Given the description of an element on the screen output the (x, y) to click on. 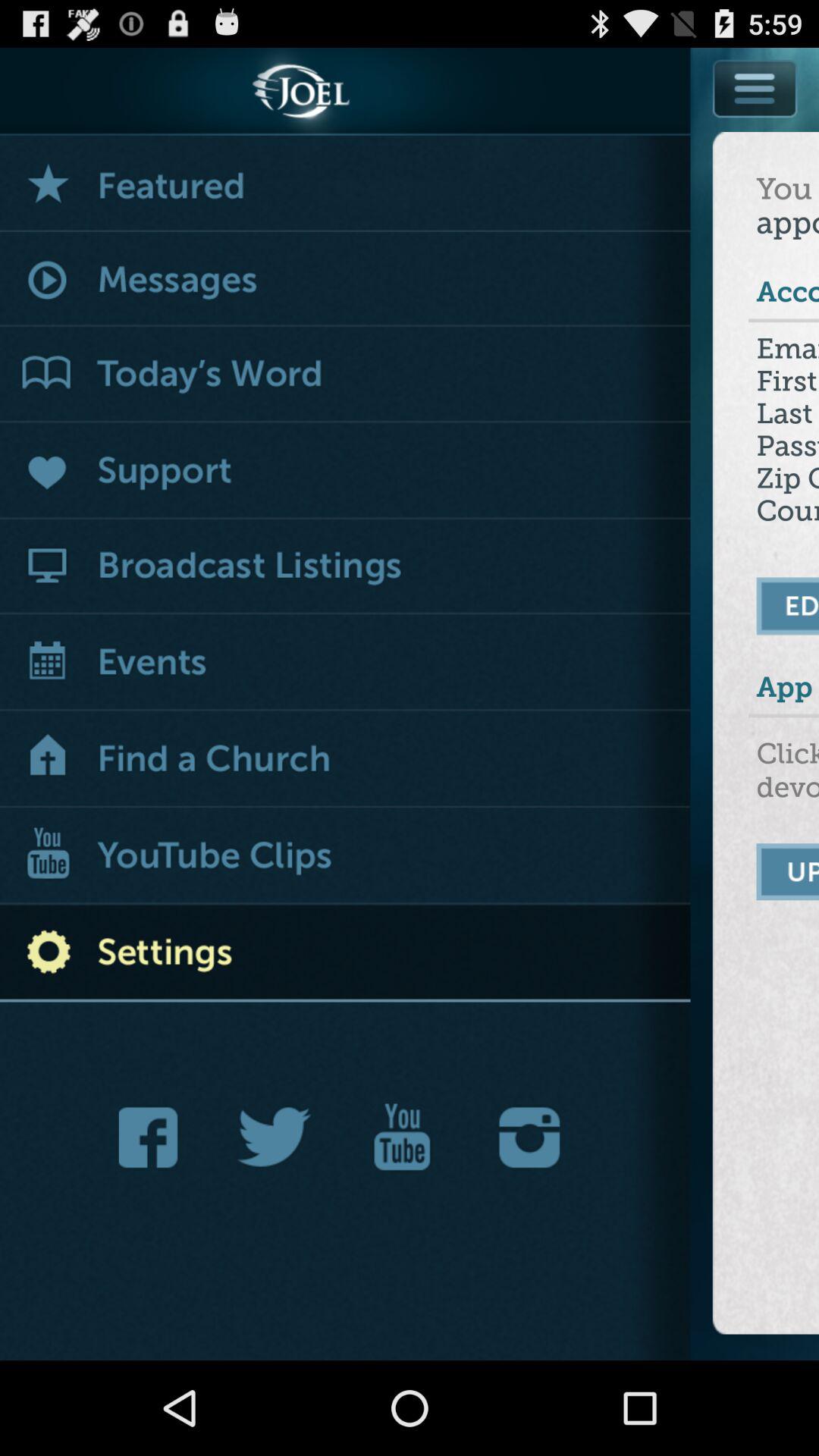
play featured (345, 183)
